Given the description of an element on the screen output the (x, y) to click on. 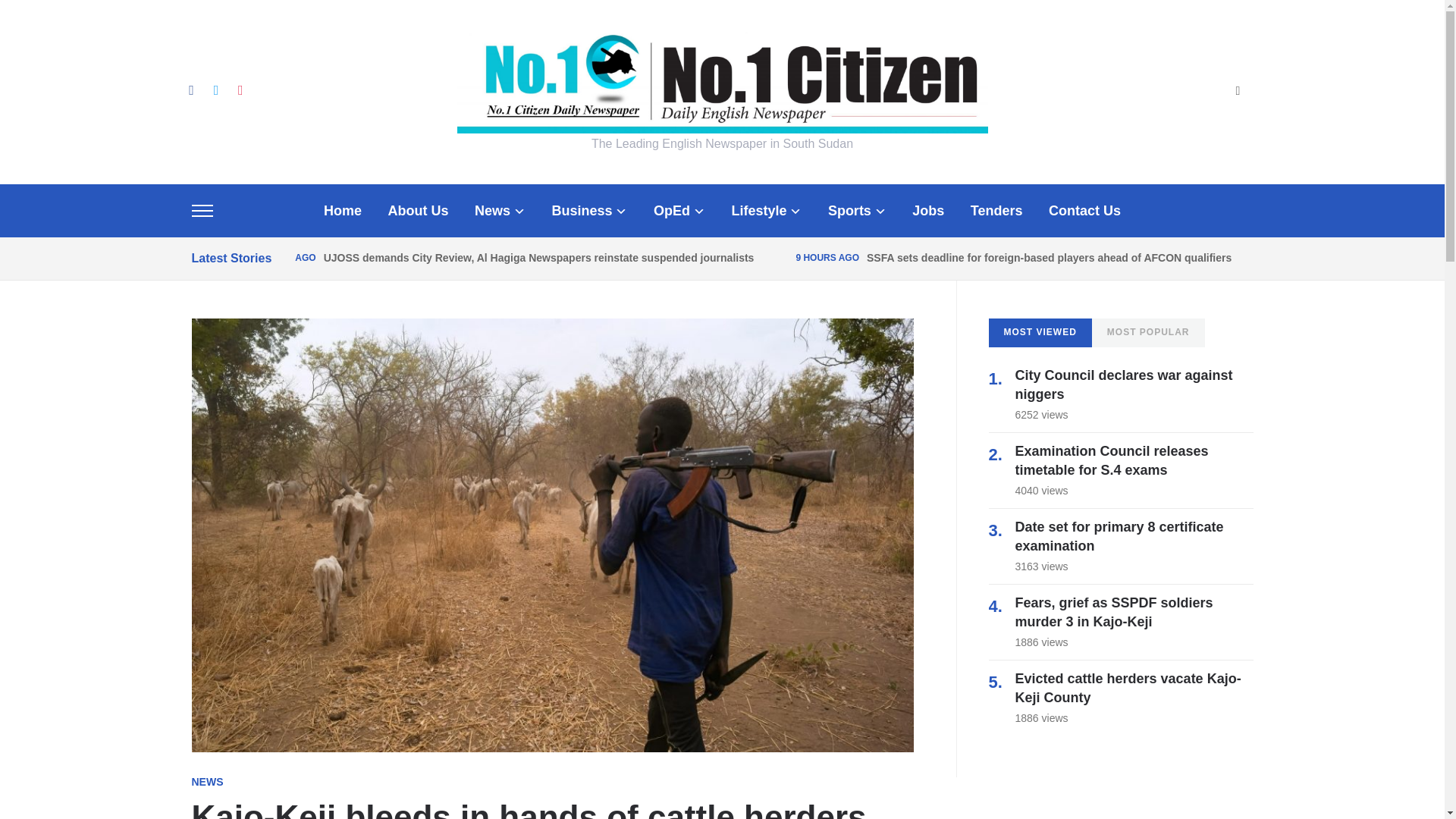
facebook (190, 88)
Search (1237, 91)
twitter (216, 88)
Friend me on Facebook (190, 88)
Follow Me (216, 88)
instagram (239, 88)
